Given the description of an element on the screen output the (x, y) to click on. 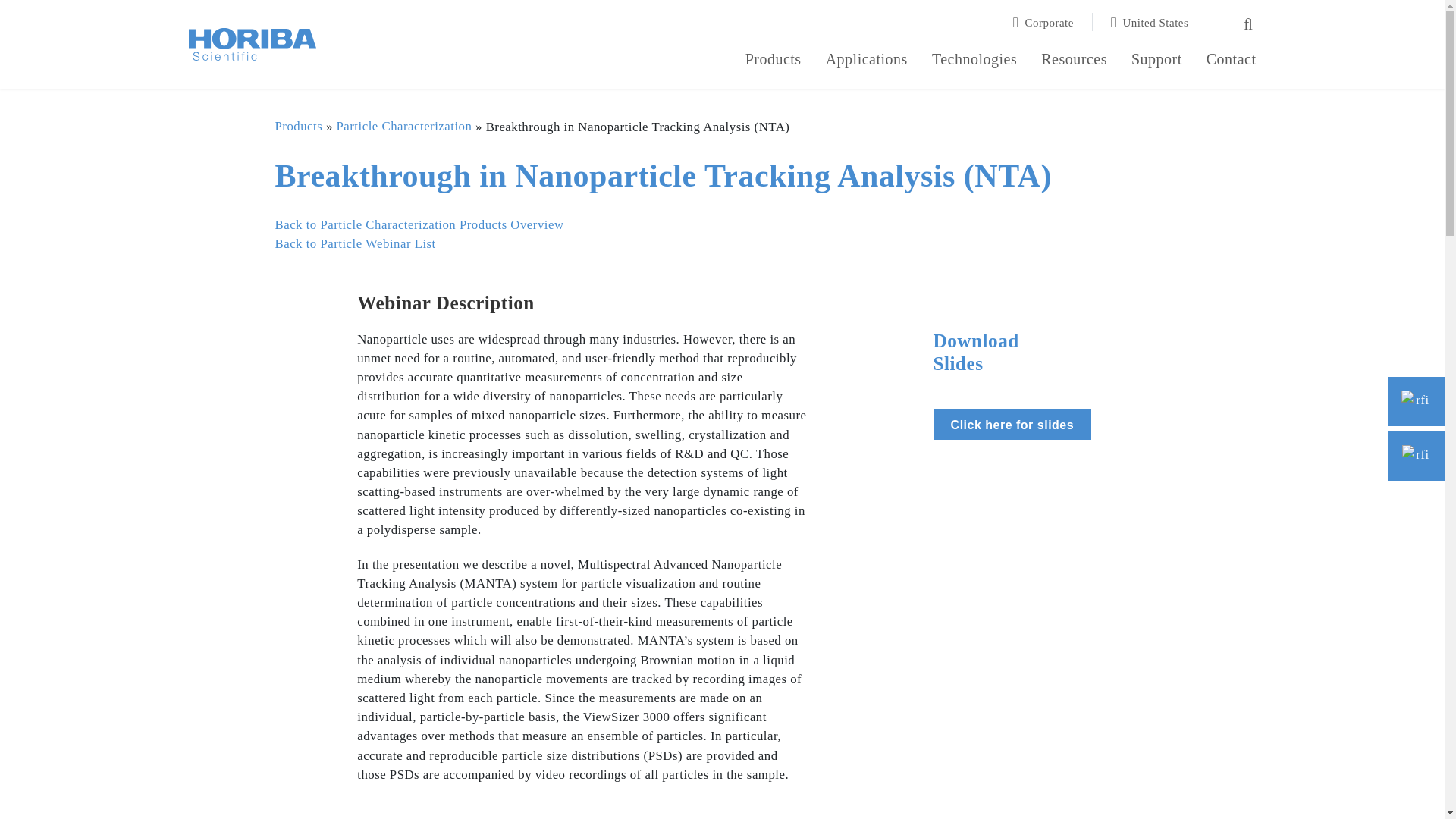
Products (773, 61)
Resources (1073, 61)
Applications (866, 61)
Technologies (973, 61)
Contact (1231, 61)
United States (1159, 22)
Products (773, 61)
Support (1156, 61)
Click here for slides (1012, 424)
Corporate (1053, 22)
